Given the description of an element on the screen output the (x, y) to click on. 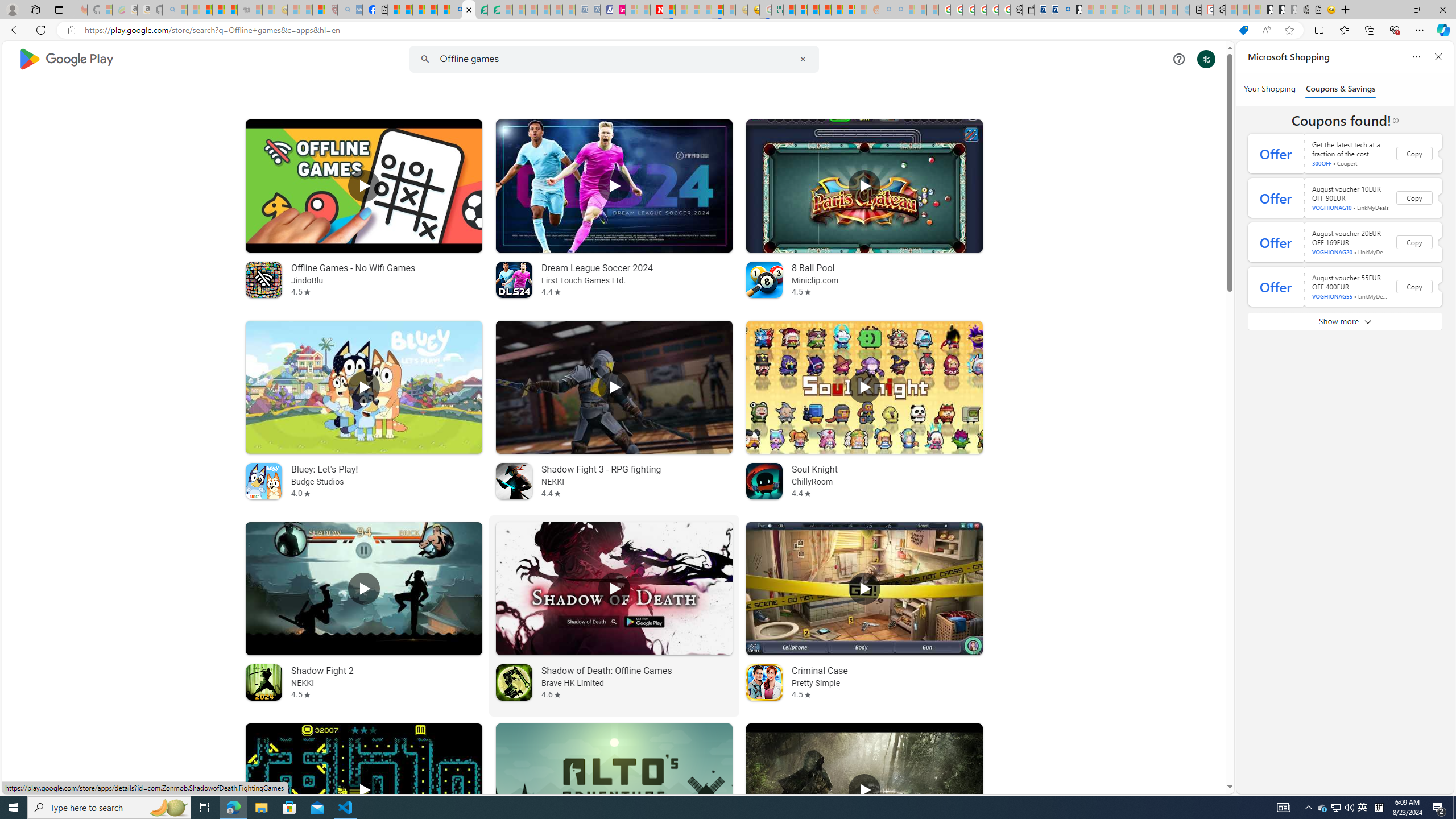
Workspaces (34, 9)
Microsoft Start Gaming (1075, 9)
Kinda Frugal - MSN (837, 9)
Microsoft Start - Sleeping (1159, 9)
Search Google Play (613, 58)
Latest Politics News & Archive | Newsweek.com (656, 9)
